Given the description of an element on the screen output the (x, y) to click on. 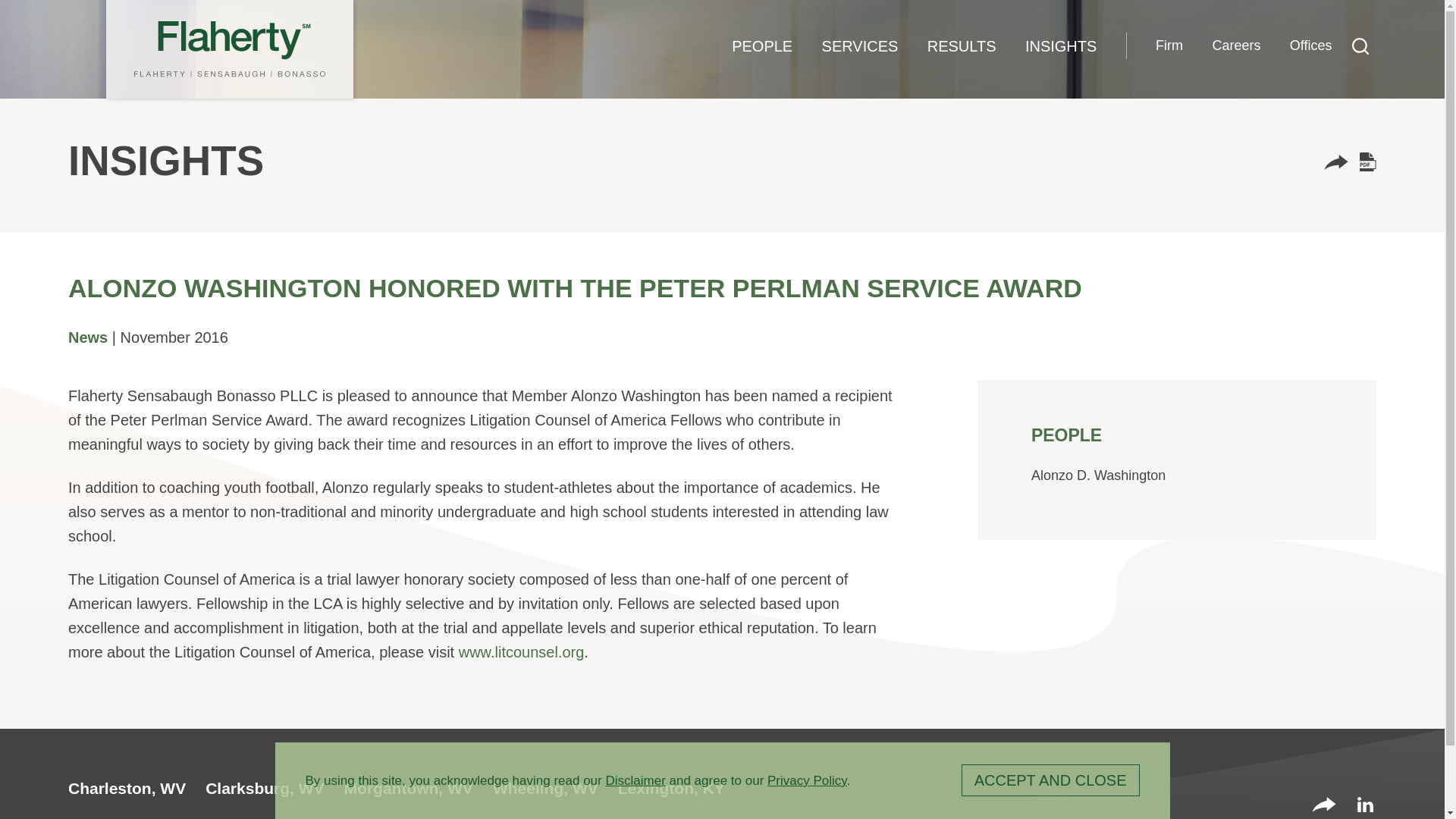
Disclaimer  (635, 780)
Menu (673, 20)
Share Icon (1323, 804)
Jump to Page (663, 20)
Main Menu (673, 20)
SERVICES (859, 46)
RESULTS (961, 46)
INSIGHTS (1061, 46)
Privacy Policy (807, 780)
Share Icon (1335, 161)
Alonzo D. Washington (1098, 475)
Share (1323, 806)
Search (1360, 45)
Offices (1310, 45)
PEOPLE (761, 46)
